Given the description of an element on the screen output the (x, y) to click on. 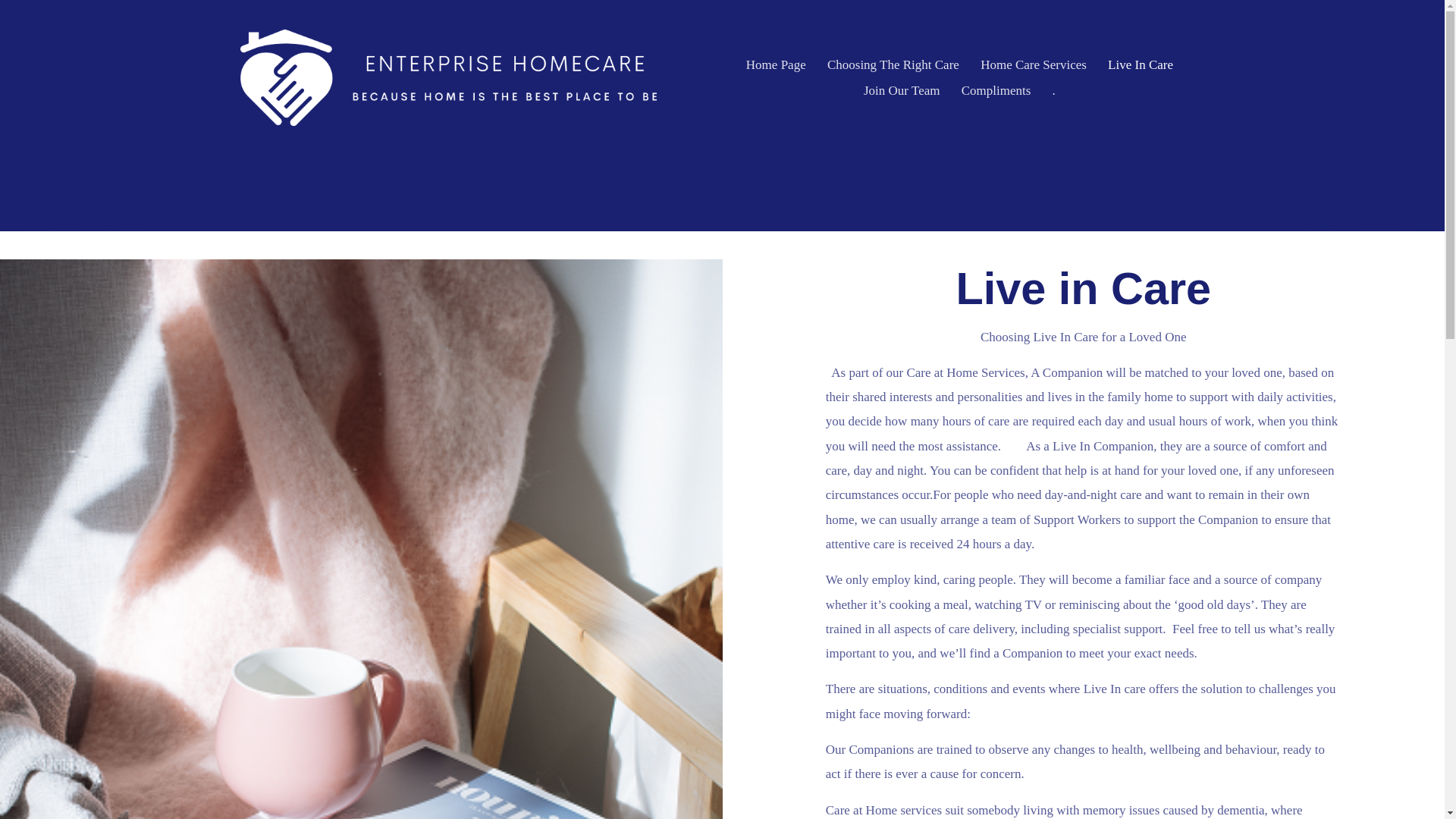
Home Care Services (1033, 64)
Home Page (775, 64)
Choosing The Right Care (893, 64)
Join Our Team (901, 90)
Compliments (996, 90)
Live In Care (1140, 64)
